Given the description of an element on the screen output the (x, y) to click on. 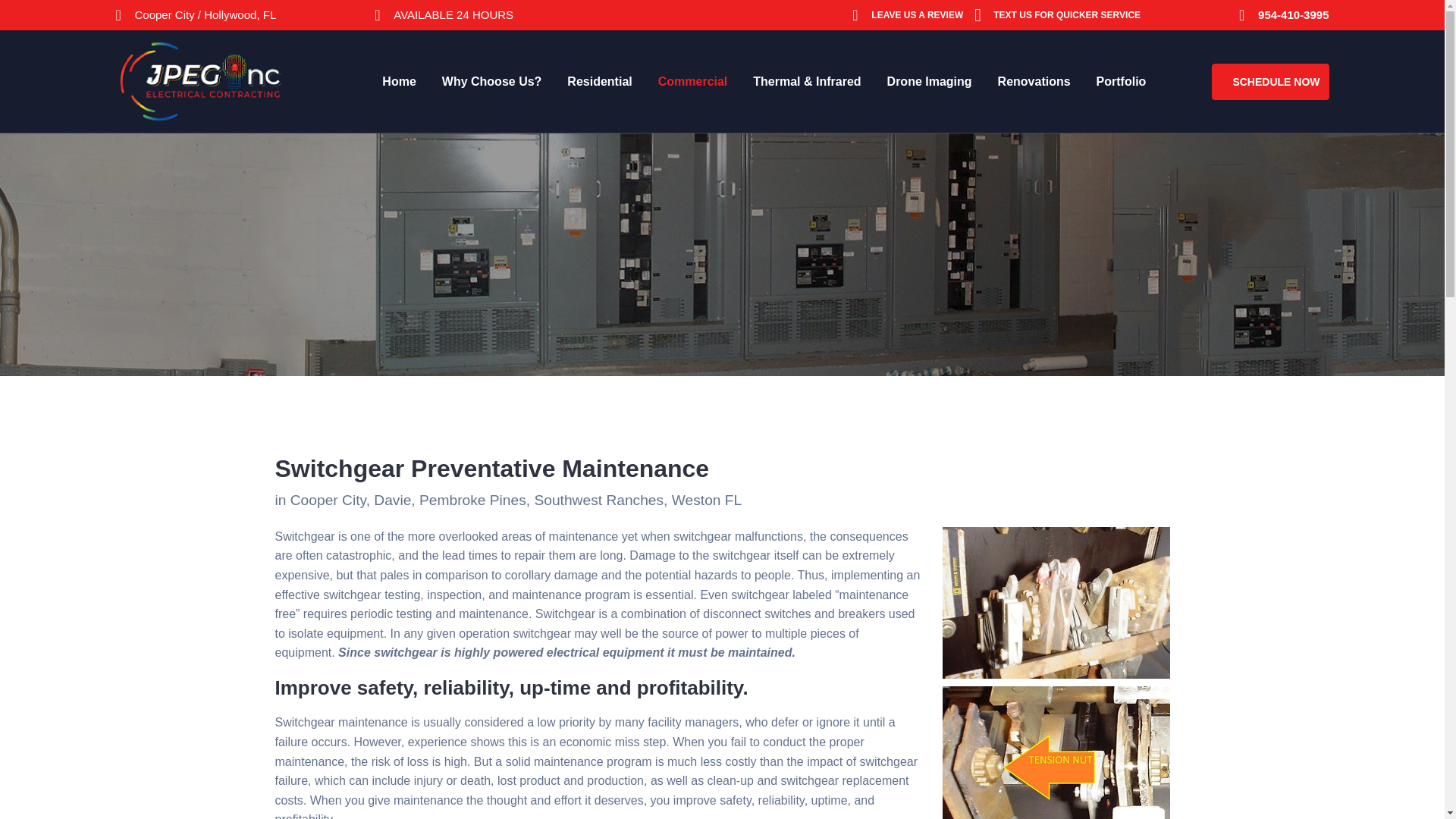
Commercial (693, 81)
TEXT US FOR QUICKER SERVICE (1066, 14)
AVAILABLE 24 HOURS (453, 14)
LEAVE US A REVIEW (916, 14)
Home (397, 81)
954-410-3995 (1292, 14)
Residential (599, 81)
Why Choose Us? (491, 81)
